Given the description of an element on the screen output the (x, y) to click on. 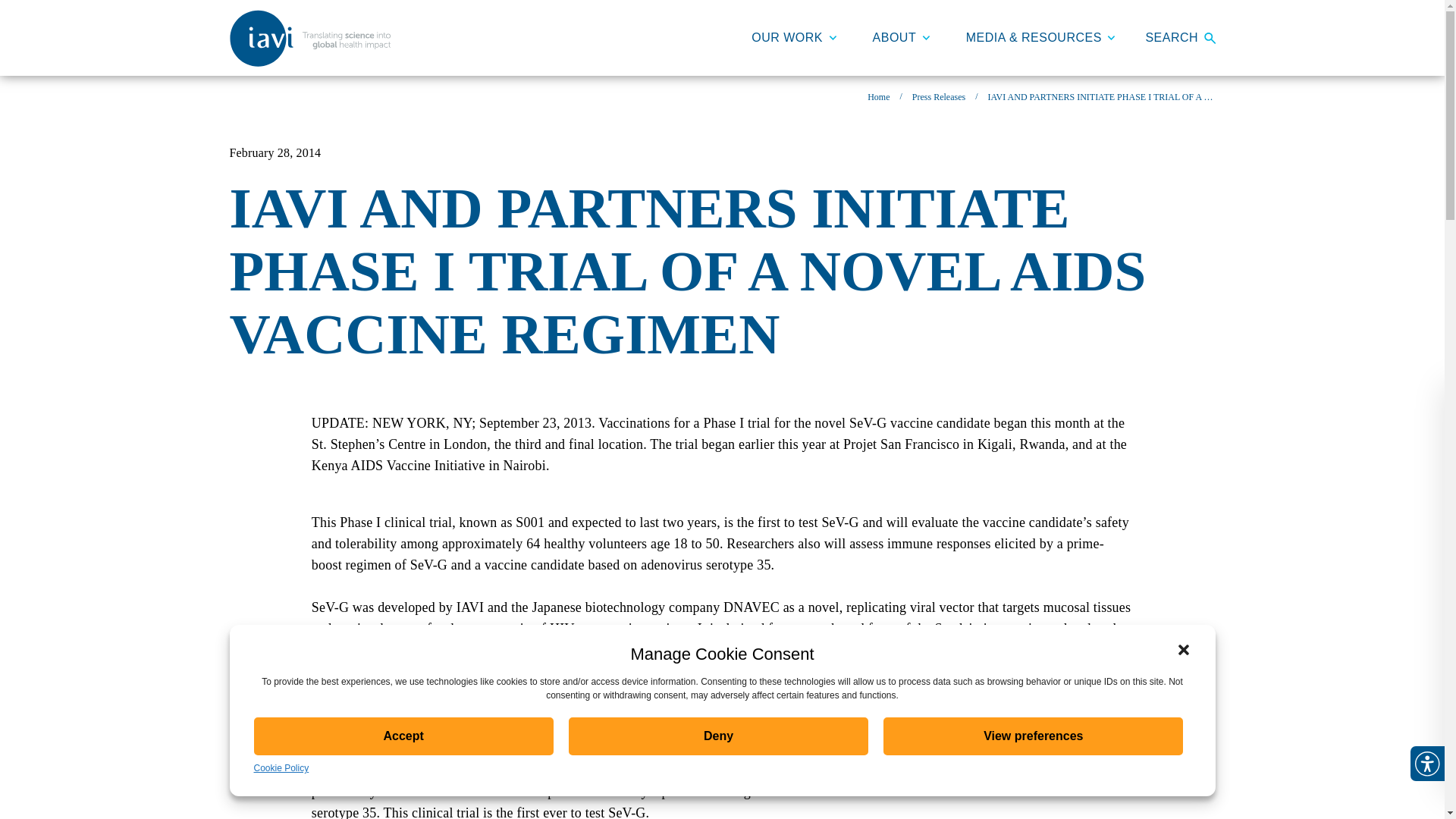
OUR WORK (793, 38)
Cookie Policy (280, 767)
Accept (403, 736)
IAVI (309, 38)
Skip to content (309, 112)
View preferences (1032, 736)
Deny (718, 736)
